Given the description of an element on the screen output the (x, y) to click on. 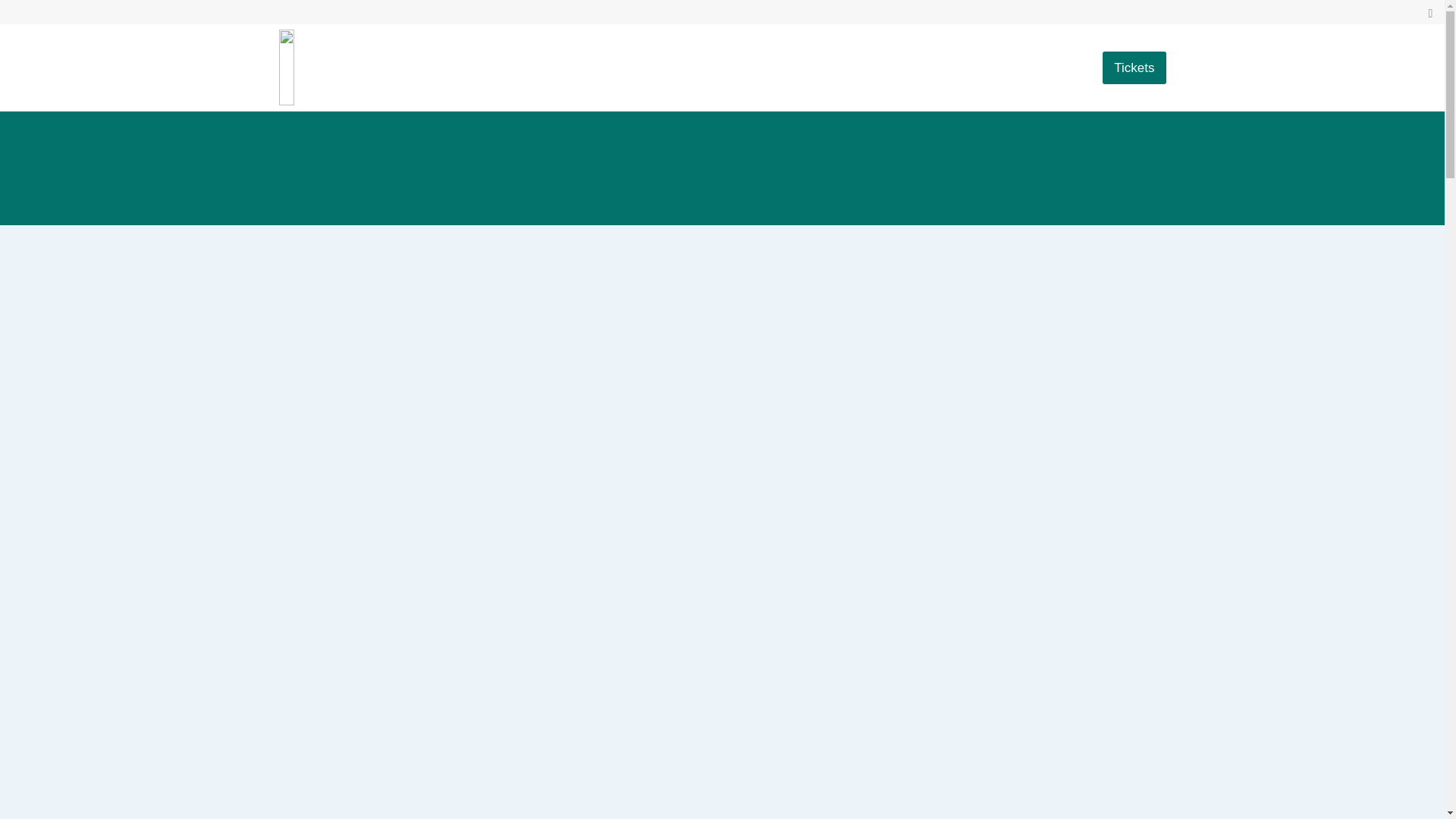
Contact Us (1042, 67)
Tickets (1124, 67)
Piano Rental (714, 67)
Our Supporters (875, 67)
